Given the description of an element on the screen output the (x, y) to click on. 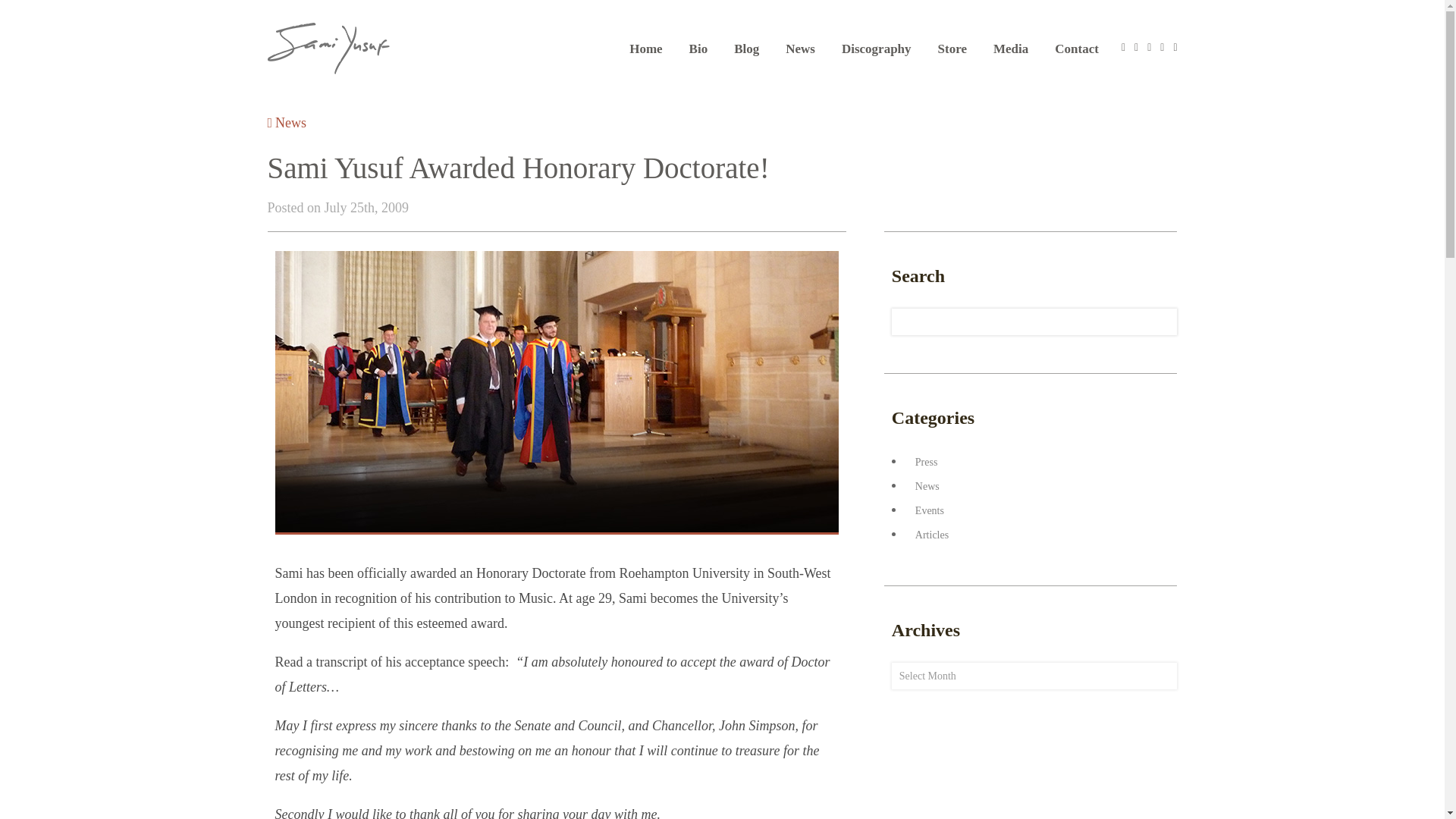
News (800, 49)
Media (1009, 49)
News (285, 122)
Press (922, 461)
Store (951, 49)
Events (925, 510)
Home (645, 49)
Articles (928, 534)
Contact (1076, 49)
Discography (876, 49)
News (923, 486)
